Given the description of an element on the screen output the (x, y) to click on. 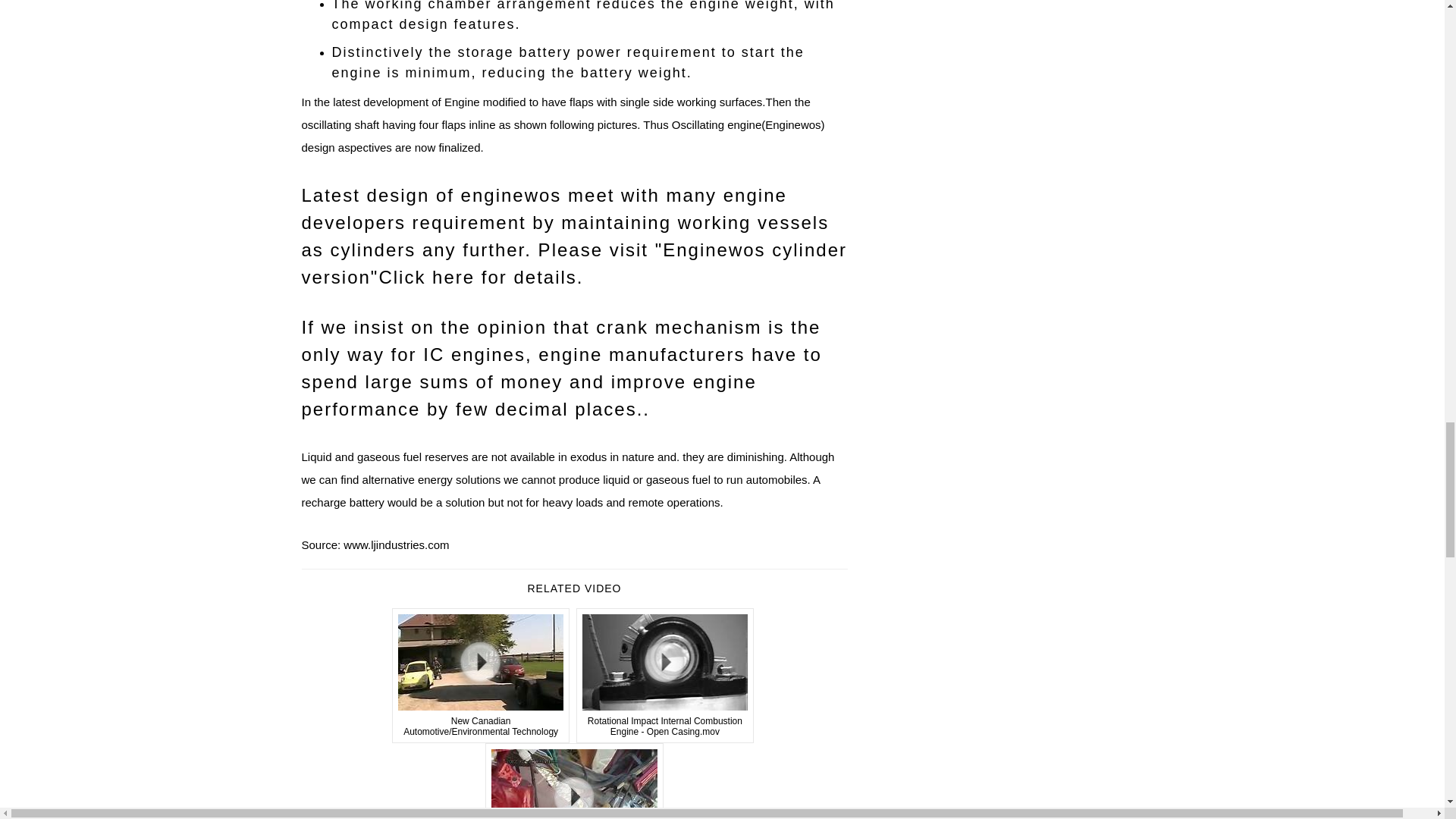
View this video from YouTube (573, 780)
View this video from YouTube (480, 675)
View this video from YouTube (665, 675)
